Given the description of an element on the screen output the (x, y) to click on. 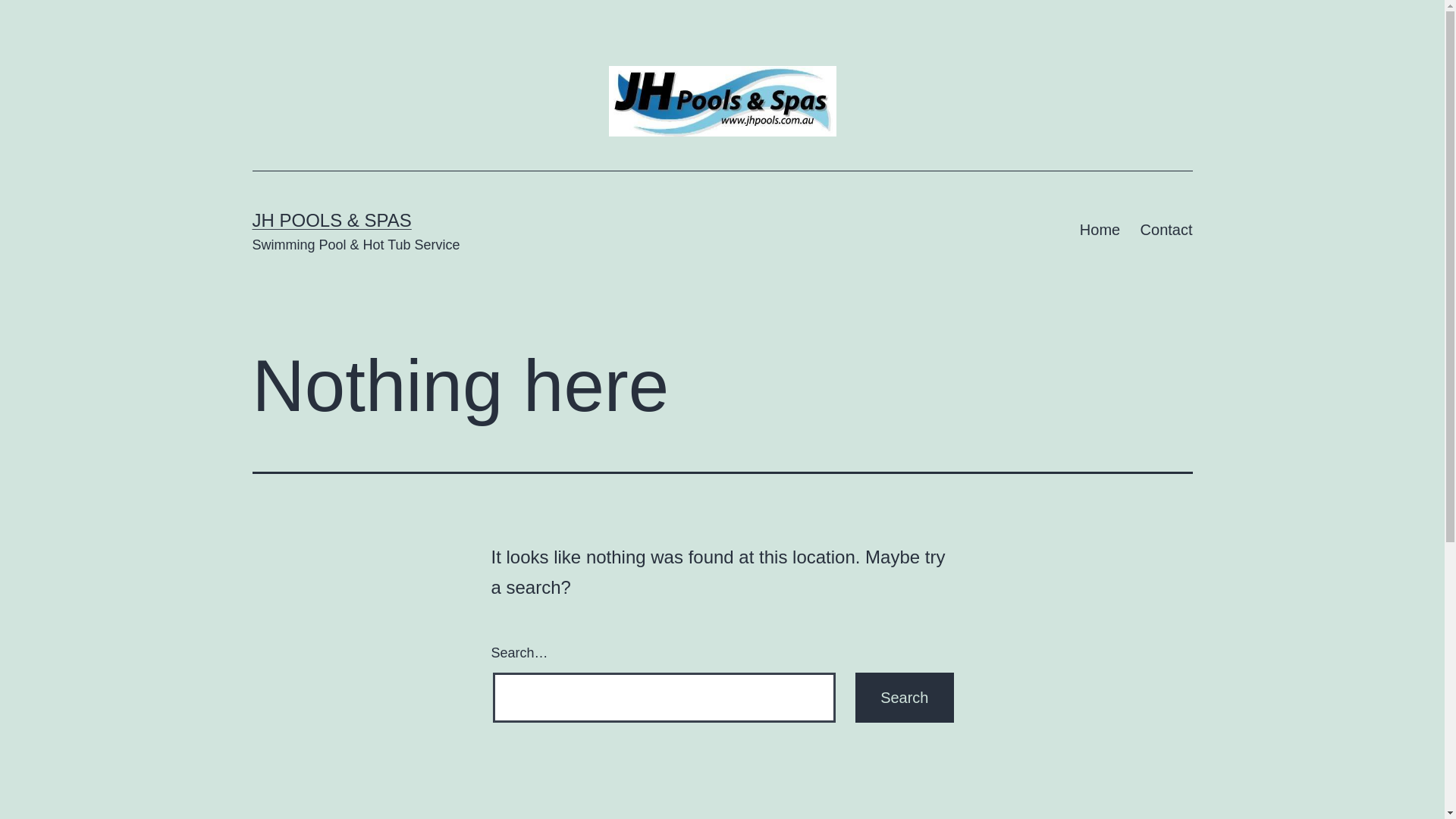
Search Element type: text (904, 697)
Home Element type: text (1100, 229)
JH POOLS & SPAS Element type: text (331, 220)
Contact Element type: text (1165, 229)
